Given the description of an element on the screen output the (x, y) to click on. 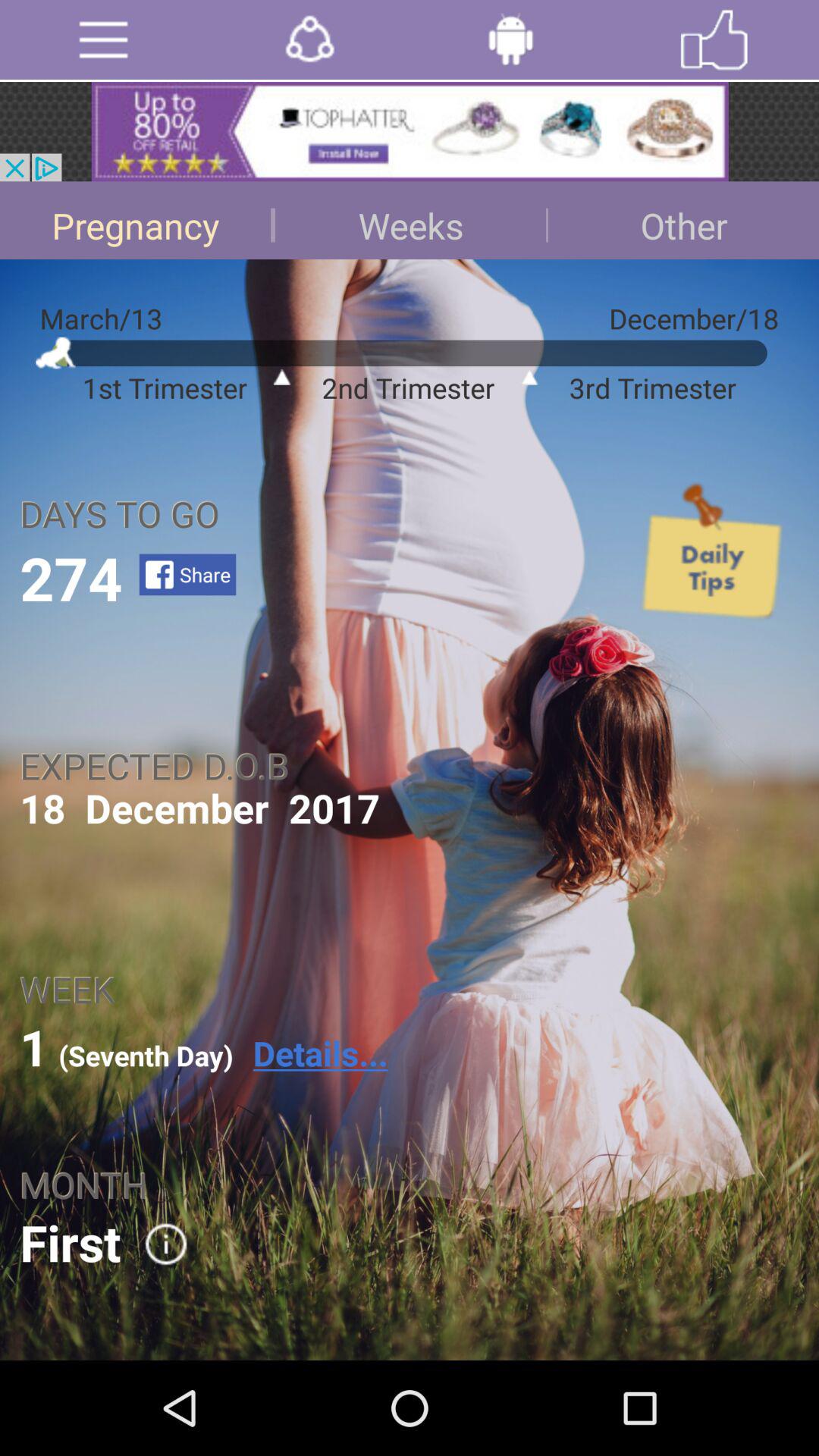
select option (156, 1244)
